Given the description of an element on the screen output the (x, y) to click on. 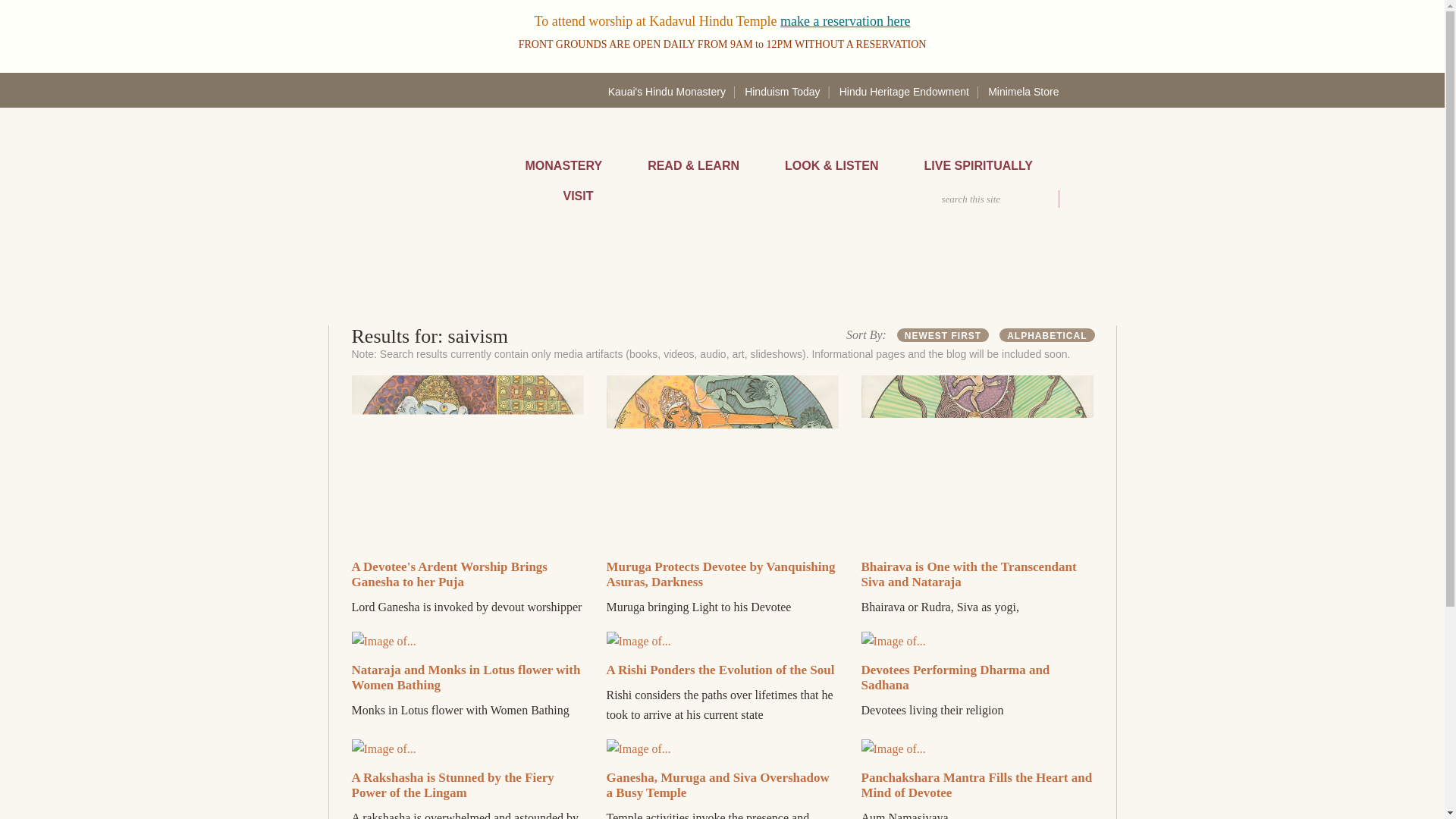
KAUAI'S HINDU MONASTERY (424, 173)
Click for more details on this media item (977, 785)
Click for more details on this media item (449, 573)
Hinduism Today (781, 91)
Click for more details on this media item (969, 573)
Click for more details on this media item (720, 669)
search (1066, 199)
Kauai's Hindu Monastery (667, 91)
make a reservation here (845, 20)
Hindu Heritage Endowment (903, 91)
search this site (1010, 198)
Click for more details on this media item (955, 677)
Click for more details on this media item (453, 785)
MONASTERY (563, 166)
search (1066, 199)
